Given the description of an element on the screen output the (x, y) to click on. 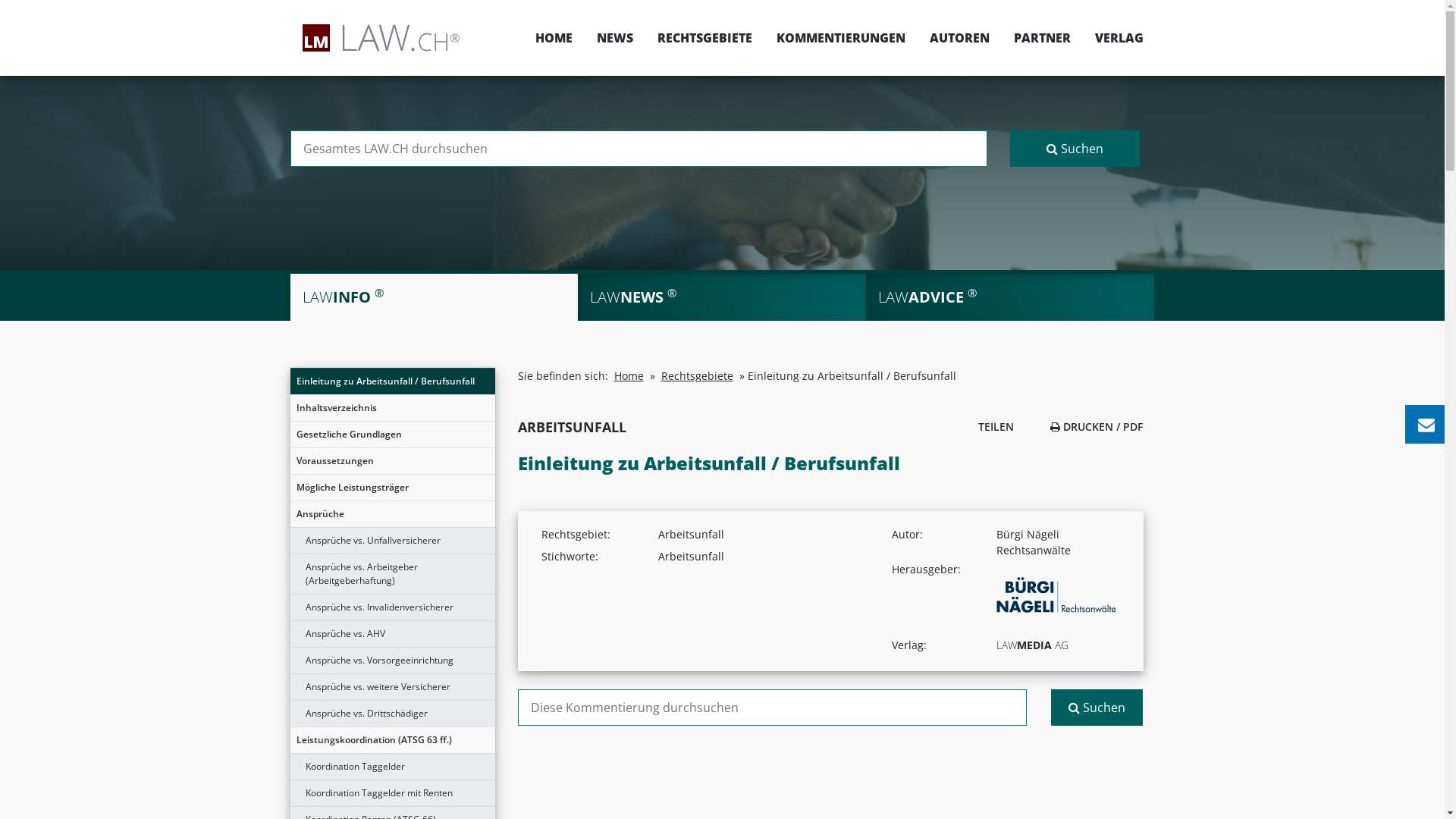
 DRUCKEN / PDF Element type: text (1096, 426)
AUTOREN Element type: text (959, 37)
HOME Element type: text (553, 37)
Gesetzliche Grundlagen Element type: text (391, 434)
Rechtsgebiete Element type: text (697, 375)
KOMMENTIERUNGEN Element type: text (840, 37)
Skip to content Element type: text (1443, 0)
VERLAG Element type: text (1112, 37)
RECHTSGEBIETE Element type: text (703, 37)
 TEILEN Element type: text (991, 426)
Suchen nach: Element type: hover (771, 707)
Koordination Taggelder mit Renten Element type: text (391, 793)
Einleitung zu Arbeitsunfall / Berufsunfall Element type: text (391, 381)
PARTNER Element type: text (1041, 37)
Koordination Taggelder Element type: text (391, 766)
NEWS Element type: text (613, 37)
Leistungskoordination (ATSG 63 ff.) Element type: text (391, 740)
Voraussetzungen Element type: text (391, 460)
Home Element type: text (628, 375)
Suchen nach: Element type: hover (637, 148)
Inhaltsverzeichnis Element type: text (391, 407)
